Given the description of an element on the screen output the (x, y) to click on. 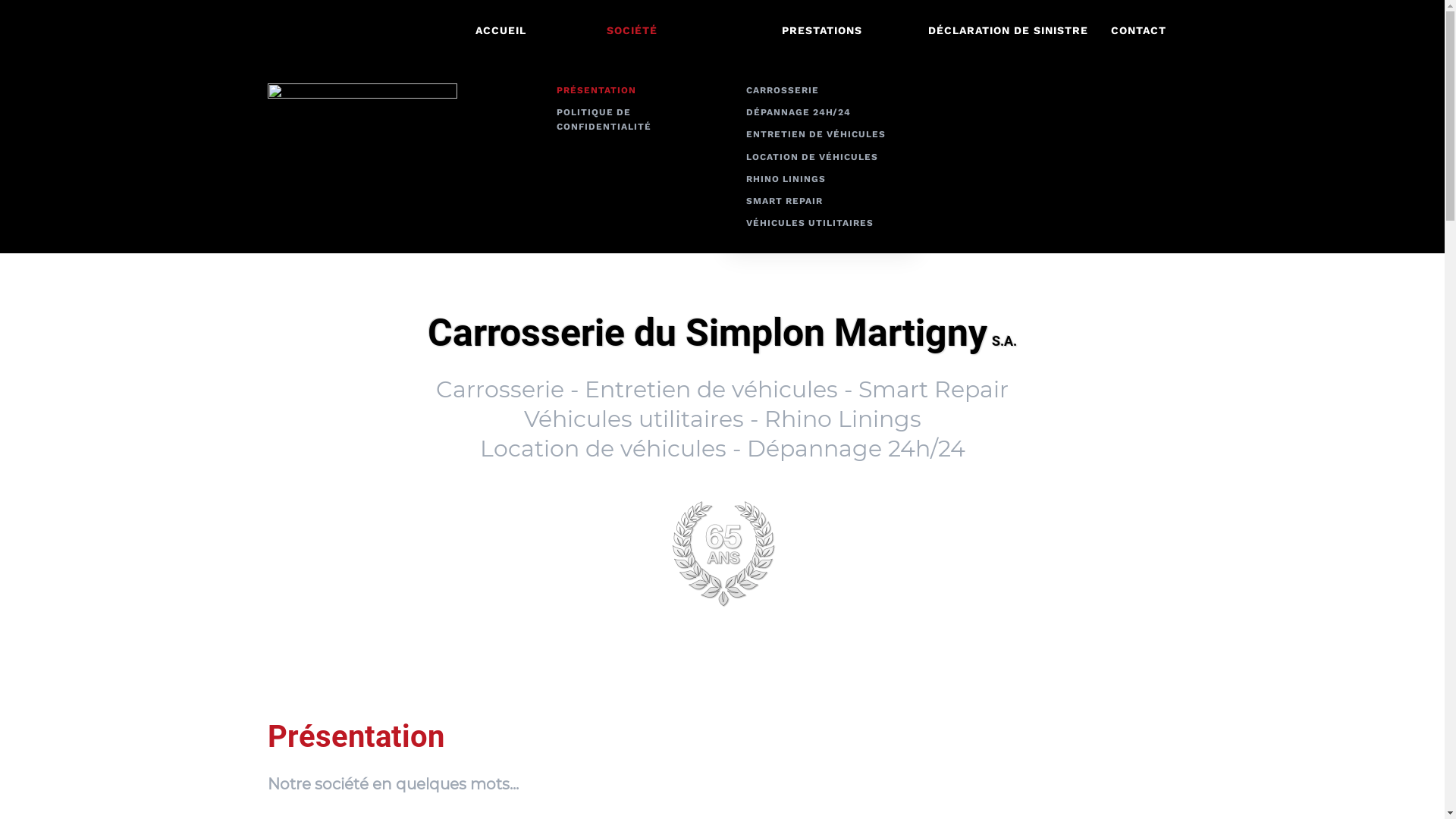
CARROSSERIE Element type: text (821, 90)
ACCUEIL Element type: text (500, 30)
CONTACT Element type: text (1138, 30)
RHINO LININGS Element type: text (821, 179)
SMART REPAIR Element type: text (821, 201)
PRESTATIONS Element type: text (821, 30)
